Given the description of an element on the screen output the (x, y) to click on. 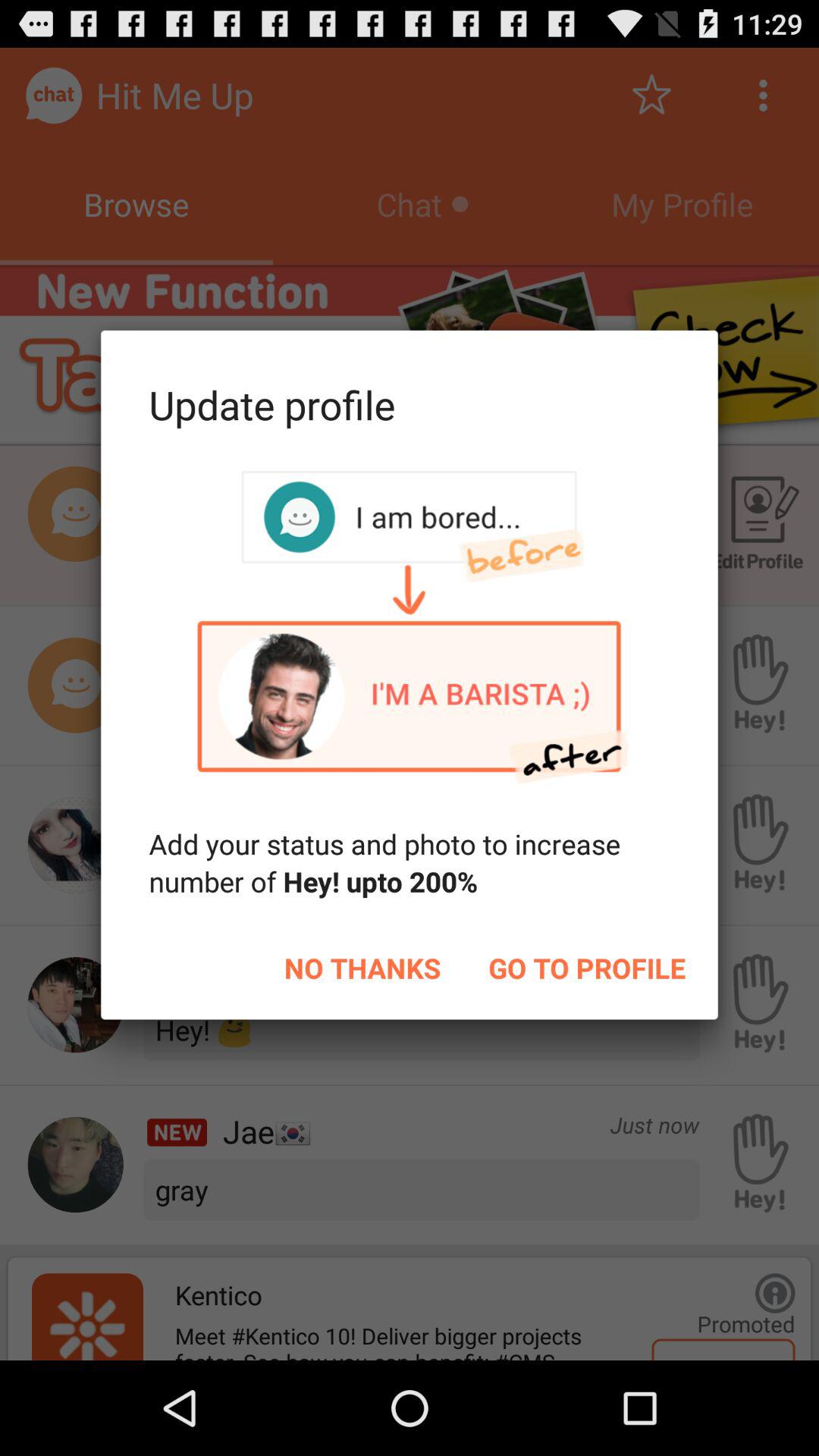
click the icon below hey! upto 200% icon (586, 967)
